Given the description of an element on the screen output the (x, y) to click on. 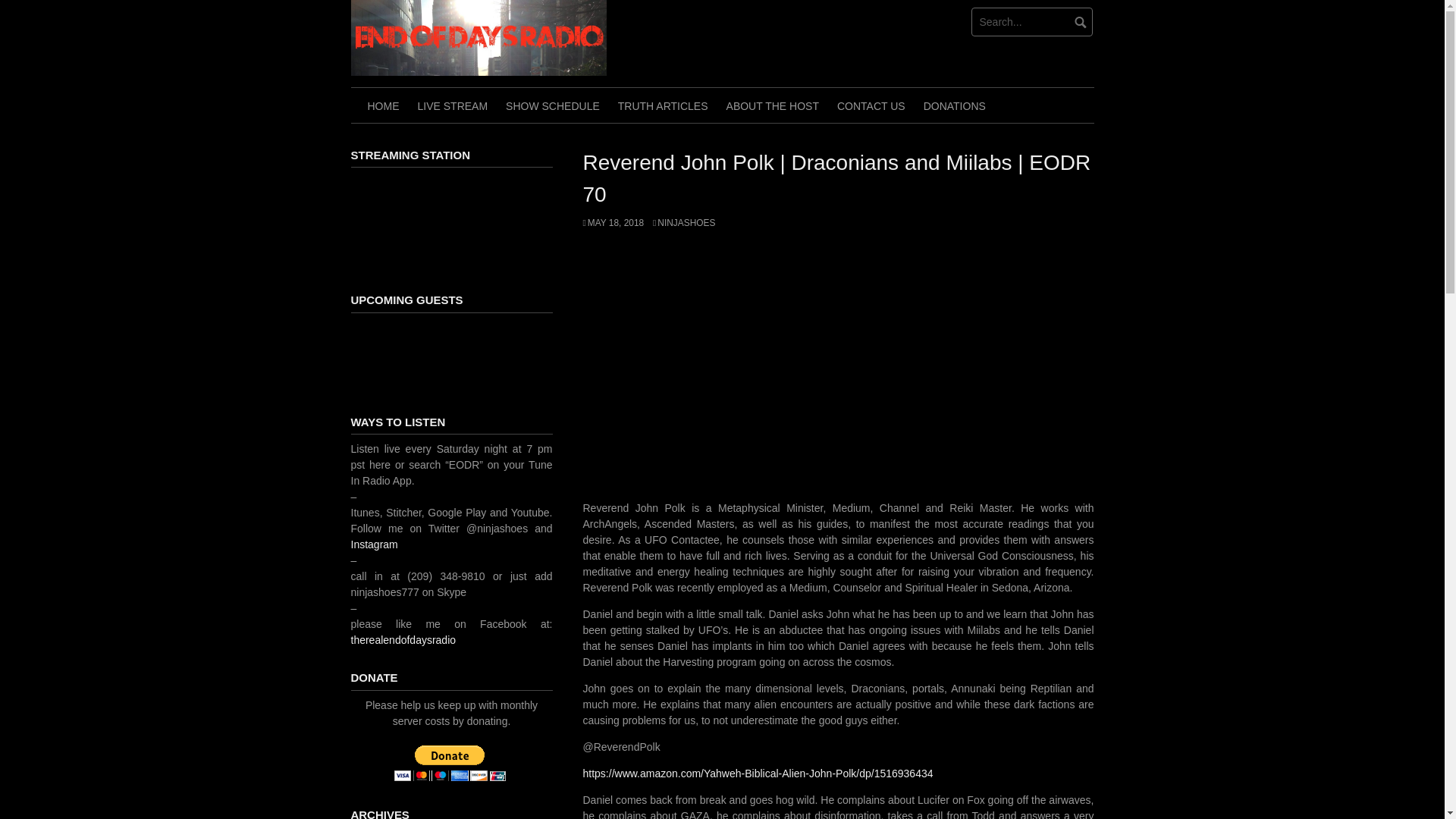
HOME (382, 104)
Instagram (373, 544)
LIVE STREAM (451, 104)
therealendofdaysradio (402, 639)
MAY 18, 2018 (612, 222)
Search for: (1031, 21)
NINJASHOES (683, 222)
DONATIONS (954, 104)
SHOW SCHEDULE (552, 104)
